Given the description of an element on the screen output the (x, y) to click on. 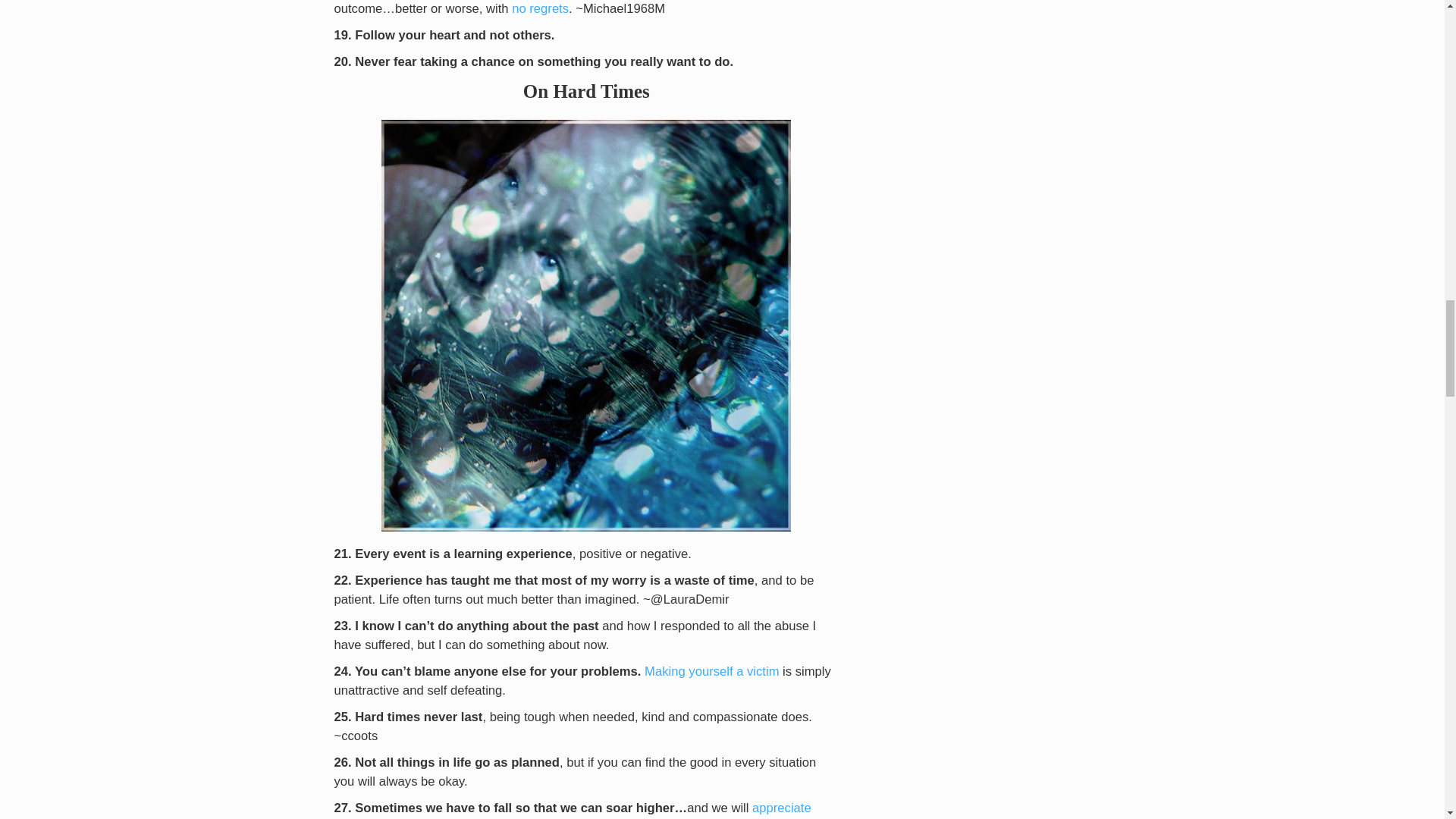
How to Stop Being a Victim and Start Creating Your Life (711, 671)
40 Ways to Live Life Without Regrets (540, 8)
60 Things to Be Grateful for in Life (571, 809)
